Given the description of an element on the screen output the (x, y) to click on. 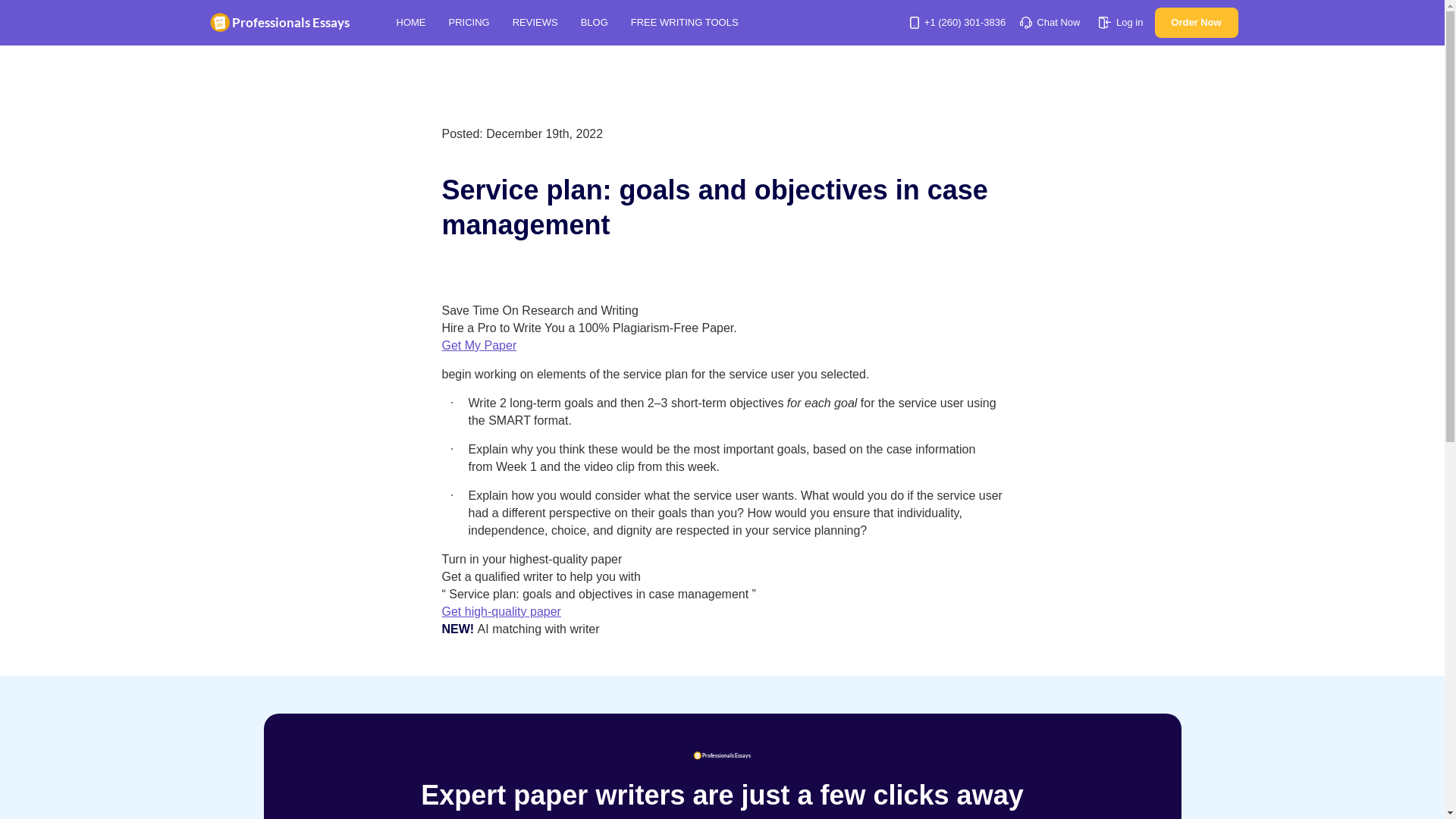
Order Now (1195, 22)
FREE WRITING TOOLS (689, 22)
Log in (1120, 21)
Get high-quality paper (500, 611)
Chat Now (1050, 21)
PRICING (468, 21)
REVIEWS (534, 21)
BLOG (594, 21)
Get My Paper (478, 345)
HOME (410, 21)
